Given the description of an element on the screen output the (x, y) to click on. 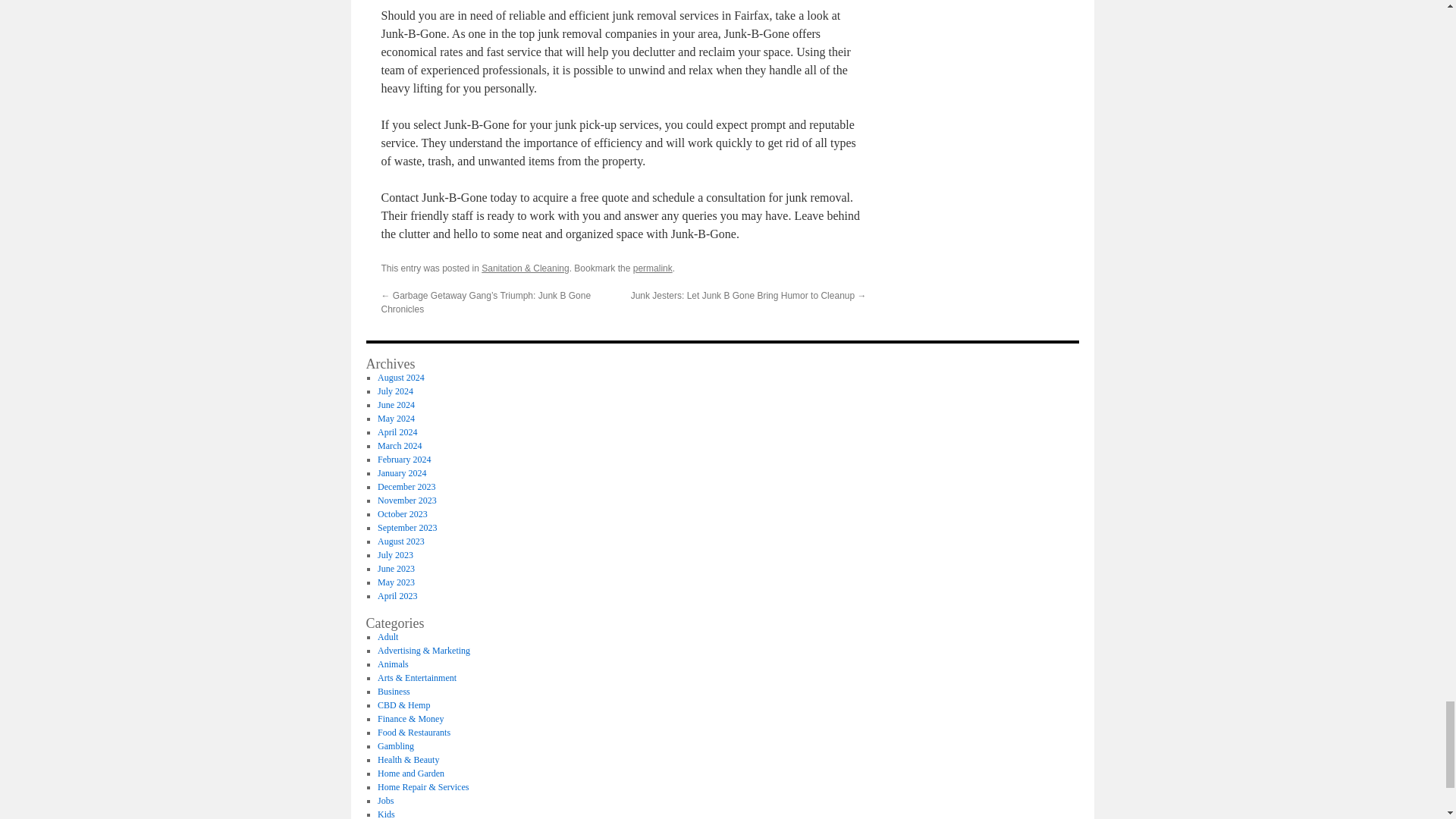
May 2024 (395, 418)
Animals (393, 664)
March 2024 (399, 445)
April 2024 (396, 431)
Adult (387, 636)
April 2023 (396, 595)
January 2024 (401, 472)
December 2023 (406, 486)
July 2023 (395, 554)
